Given the description of an element on the screen output the (x, y) to click on. 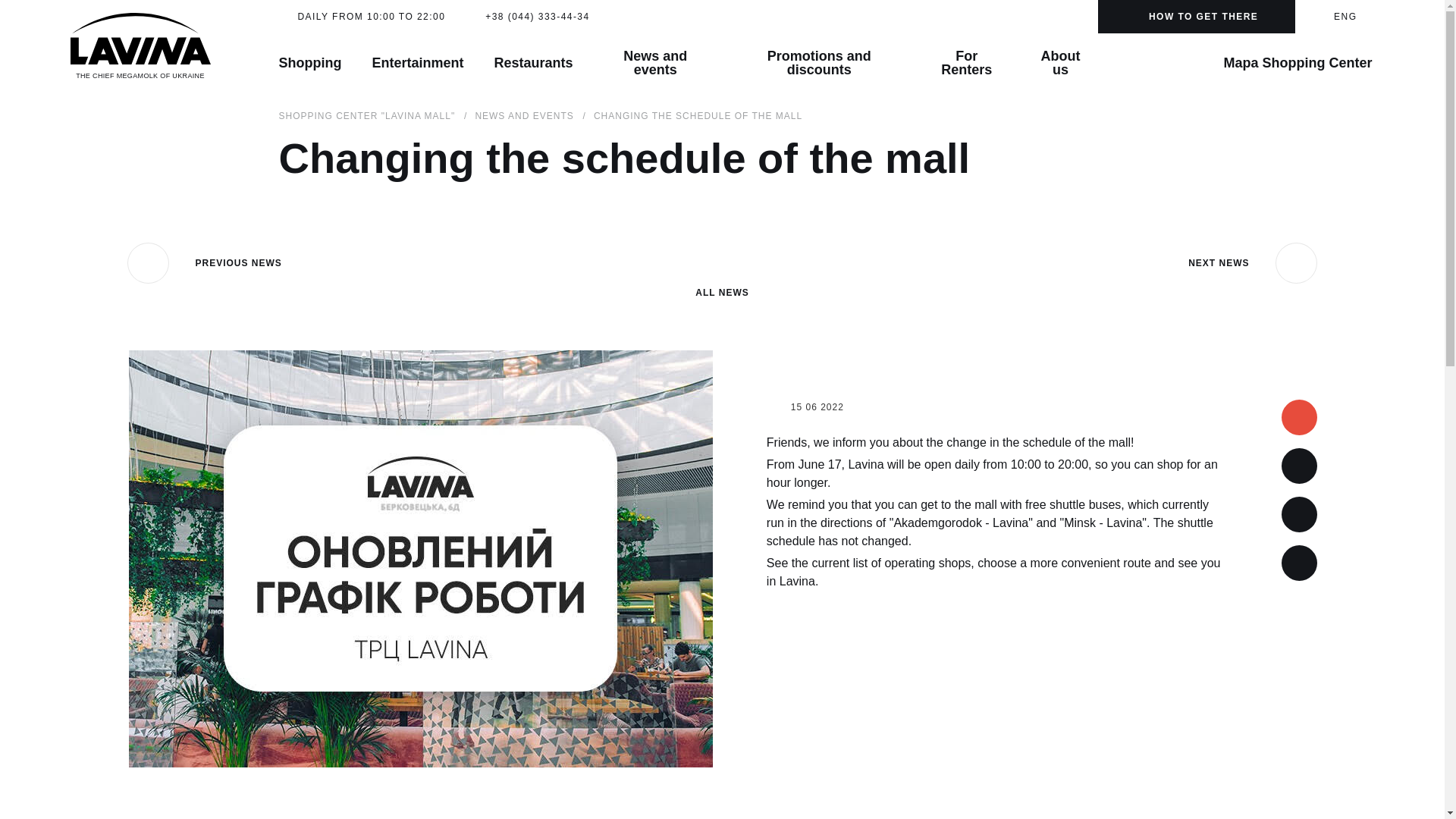
Mapa Shopping Center (1279, 63)
For Renters (966, 62)
Share this page (1299, 514)
CHANGING THE SCHEDULE OF THE MALL (698, 115)
Promotions and discounts (818, 62)
Entertainment (417, 62)
Shopping (309, 62)
Restaurants (533, 62)
ALL NEWS (721, 269)
Share this page (1299, 562)
SHOPPING CENTER "LAVINA MALL" (367, 115)
THE CHIEF MEGAMOLK OF UKRAINE (139, 46)
NEXT NEWS (1252, 262)
PREVIOUS NEWS (205, 262)
NEWS AND EVENTS (523, 115)
